Given the description of an element on the screen output the (x, y) to click on. 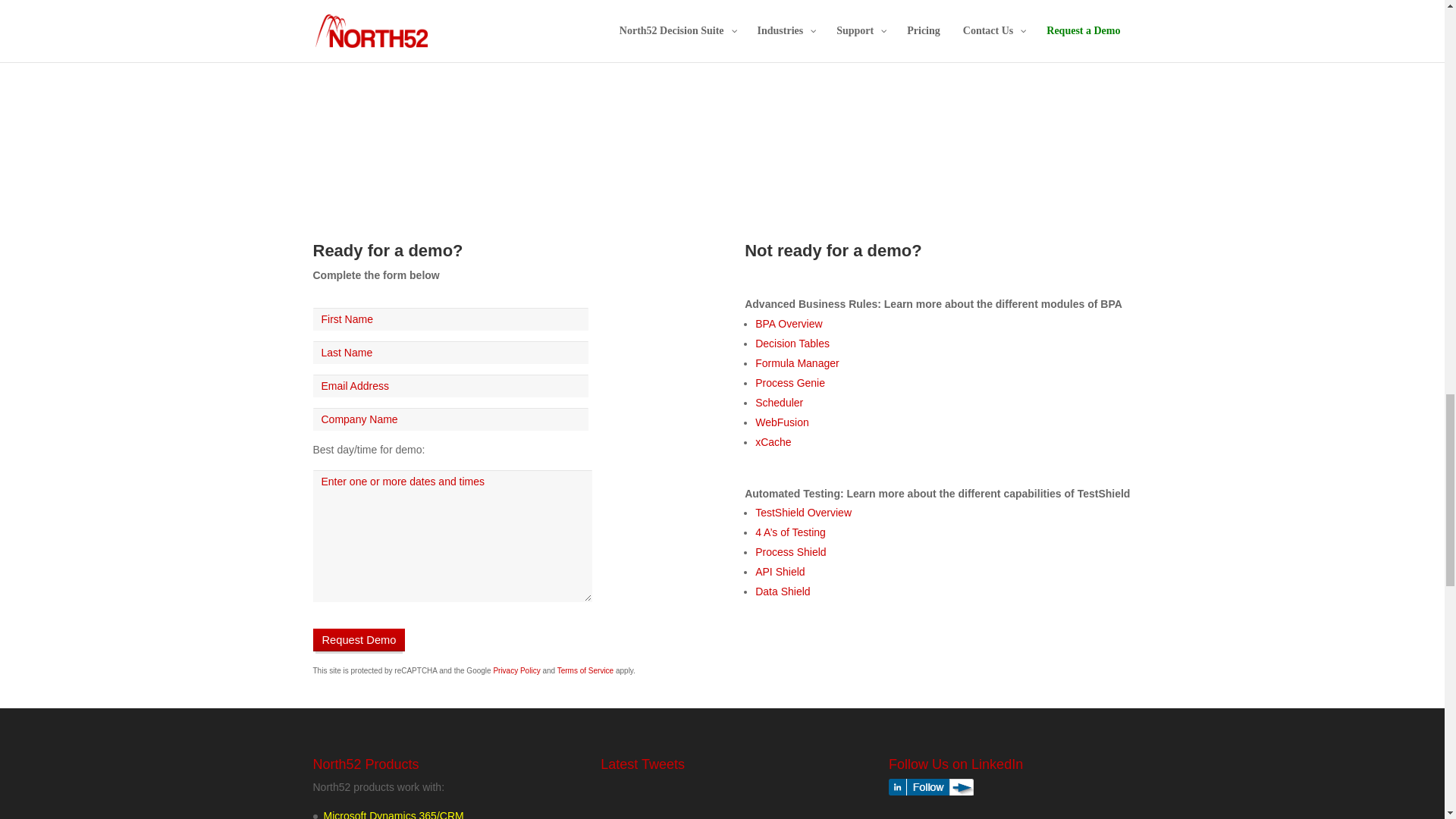
Request Demo (358, 639)
